Given the description of an element on the screen output the (x, y) to click on. 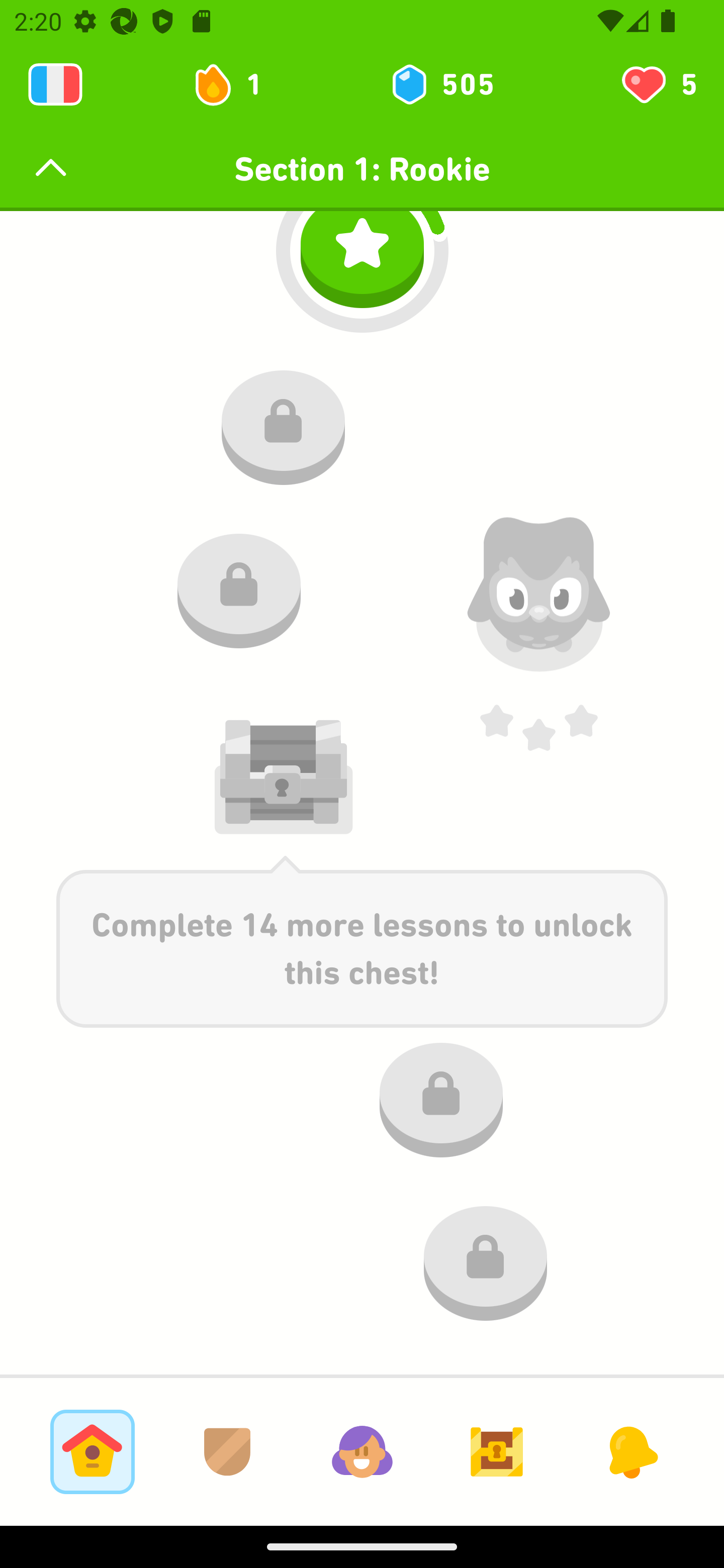
Learning 2131888976 (55, 84)
1 day streak 1 (236, 84)
505 (441, 84)
You have 5 hearts left 5 (657, 84)
Section 1: Rookie (362, 169)
Complete 14 more lessons to unlock this chest! (361, 941)
Learn Tab (91, 1451)
Leagues Tab (227, 1451)
Profile Tab (361, 1451)
Goals Tab (496, 1451)
News Tab (631, 1451)
